Given the description of an element on the screen output the (x, y) to click on. 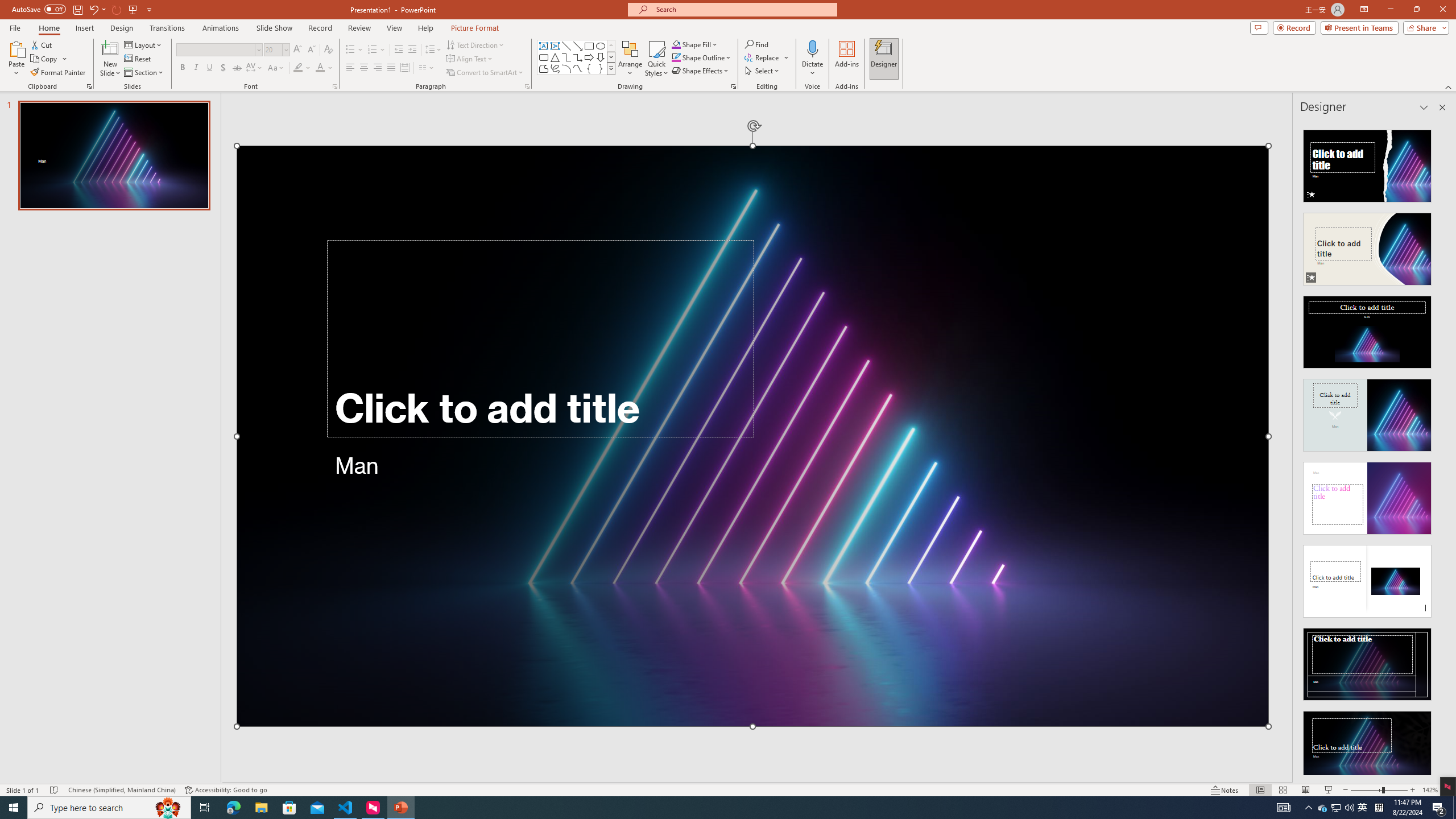
Design Idea with Animation (1366, 245)
Design Idea (1366, 743)
